Given the description of an element on the screen output the (x, y) to click on. 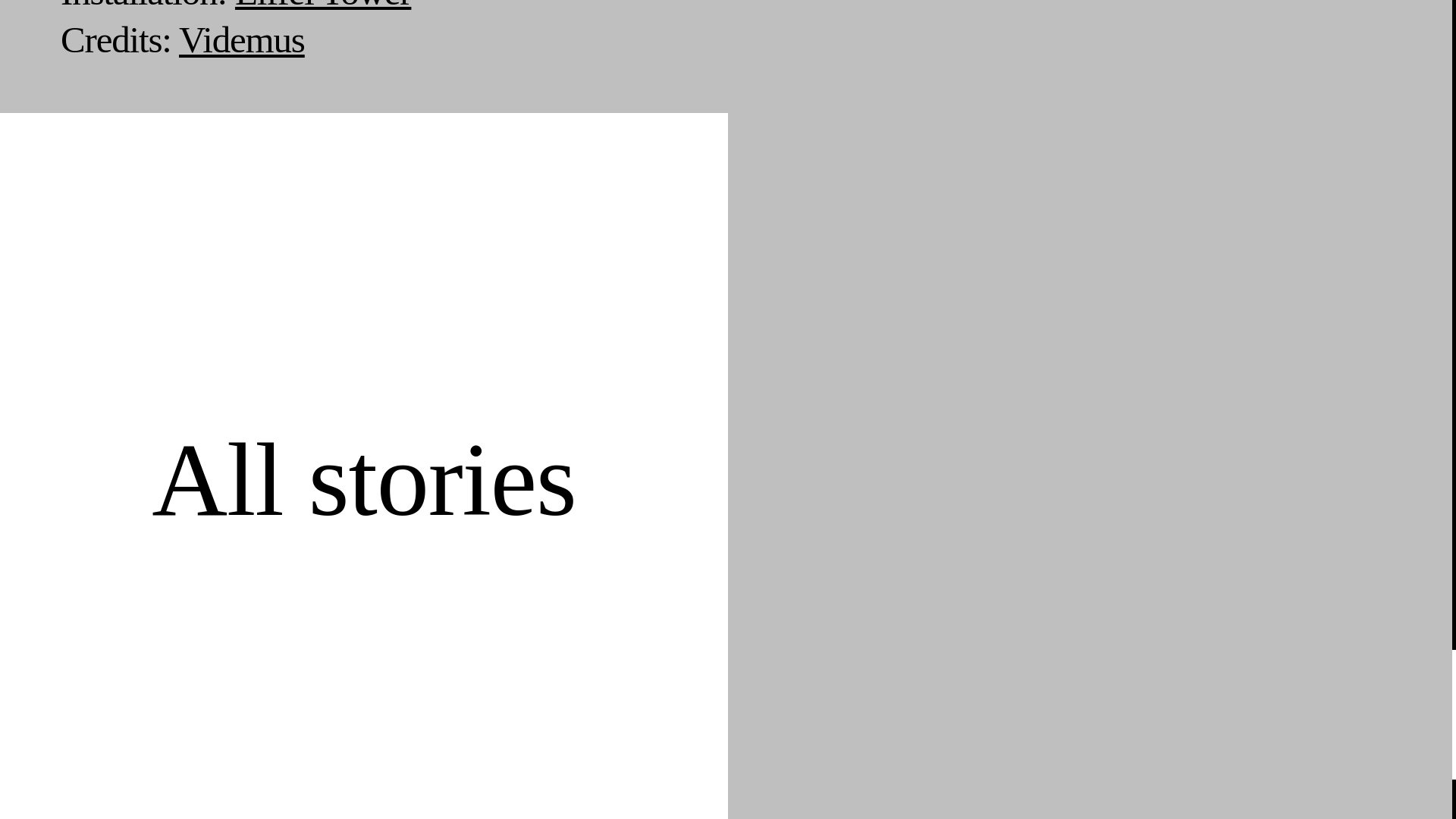
Eiffel Tower (322, 6)
All stories (363, 479)
Videmus (241, 39)
